Given the description of an element on the screen output the (x, y) to click on. 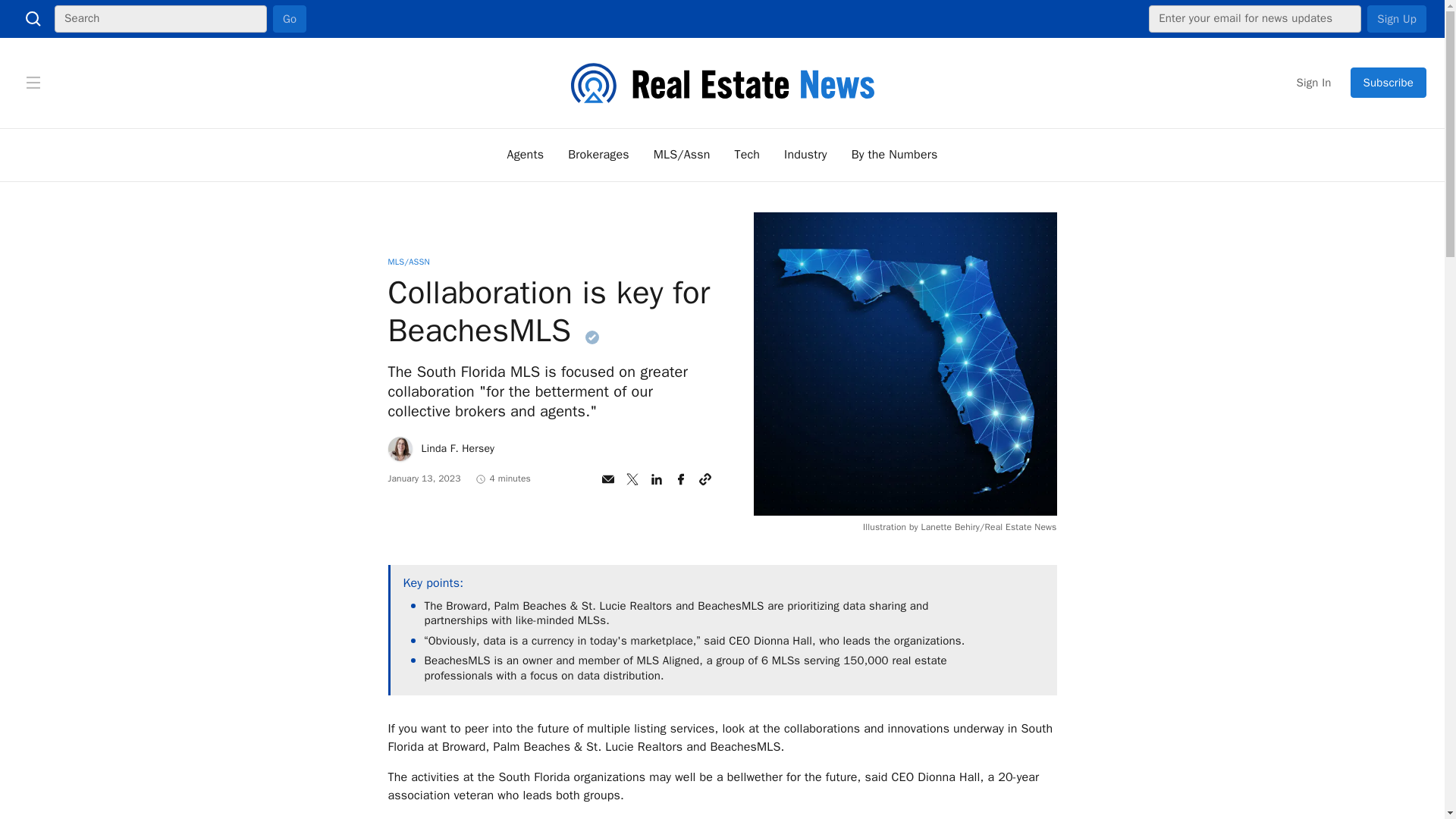
Subscribe (1388, 82)
Go (289, 18)
Industry (805, 154)
Email link (607, 478)
Agents (525, 154)
Brokerages (597, 154)
Sign Up (1396, 18)
Copy link (705, 478)
Share on LinkedIn (656, 478)
By the Numbers (894, 154)
